Given the description of an element on the screen output the (x, y) to click on. 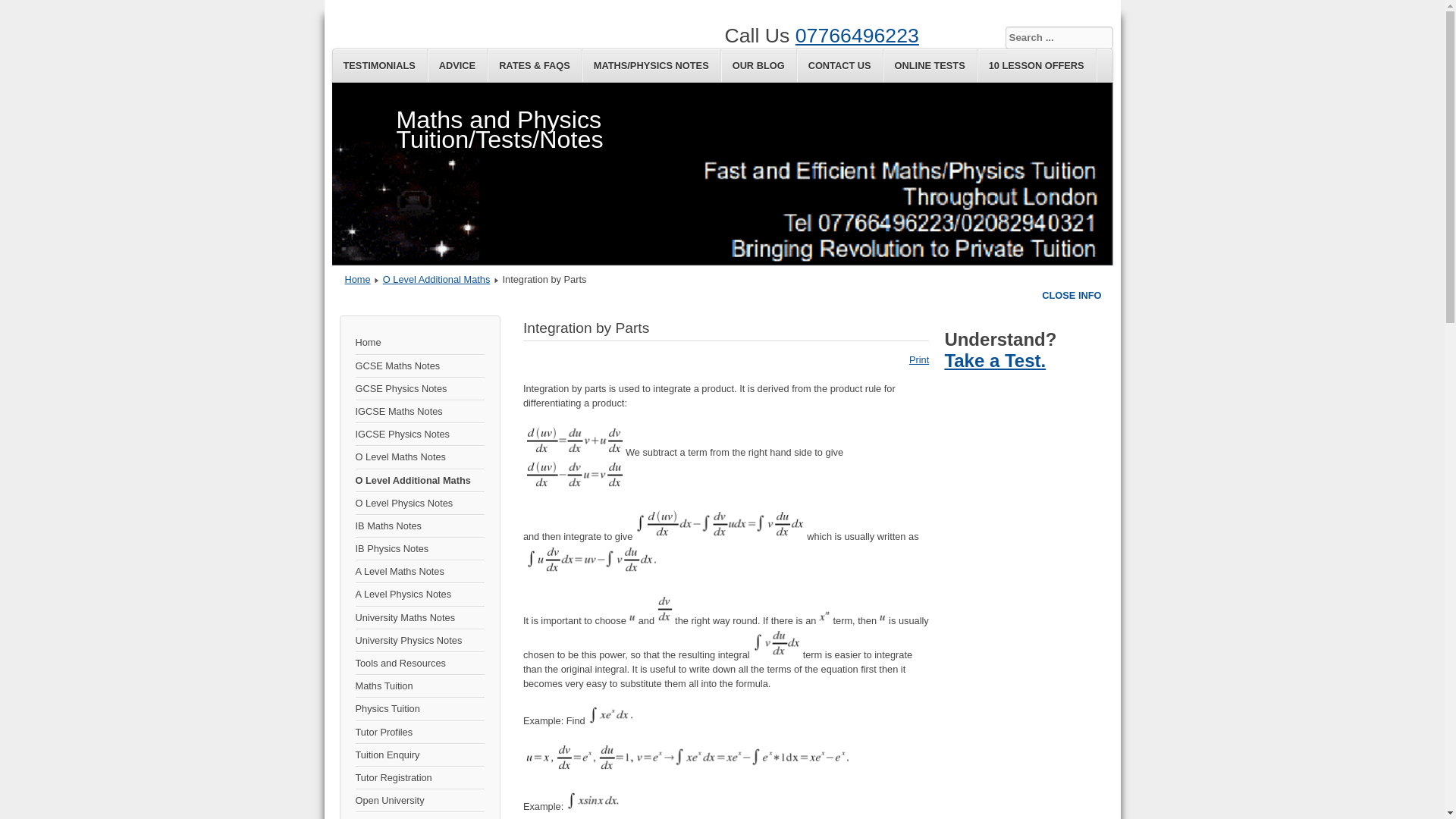
Home (419, 342)
a level maths notes (419, 571)
CONTACT US (839, 65)
ib-naths-notes (419, 526)
ib physics notes (419, 548)
10 LESSON OFFERS (1036, 65)
a level physics notes (419, 594)
ADVICE (457, 65)
Tutor Profiles (419, 732)
O Level Maths Notes (419, 456)
Physics Tuition (419, 708)
IB Maths Notes (419, 526)
University Physics Notes (419, 640)
07766496223 (856, 35)
GCSE Maths Notes (419, 365)
